Given the description of an element on the screen output the (x, y) to click on. 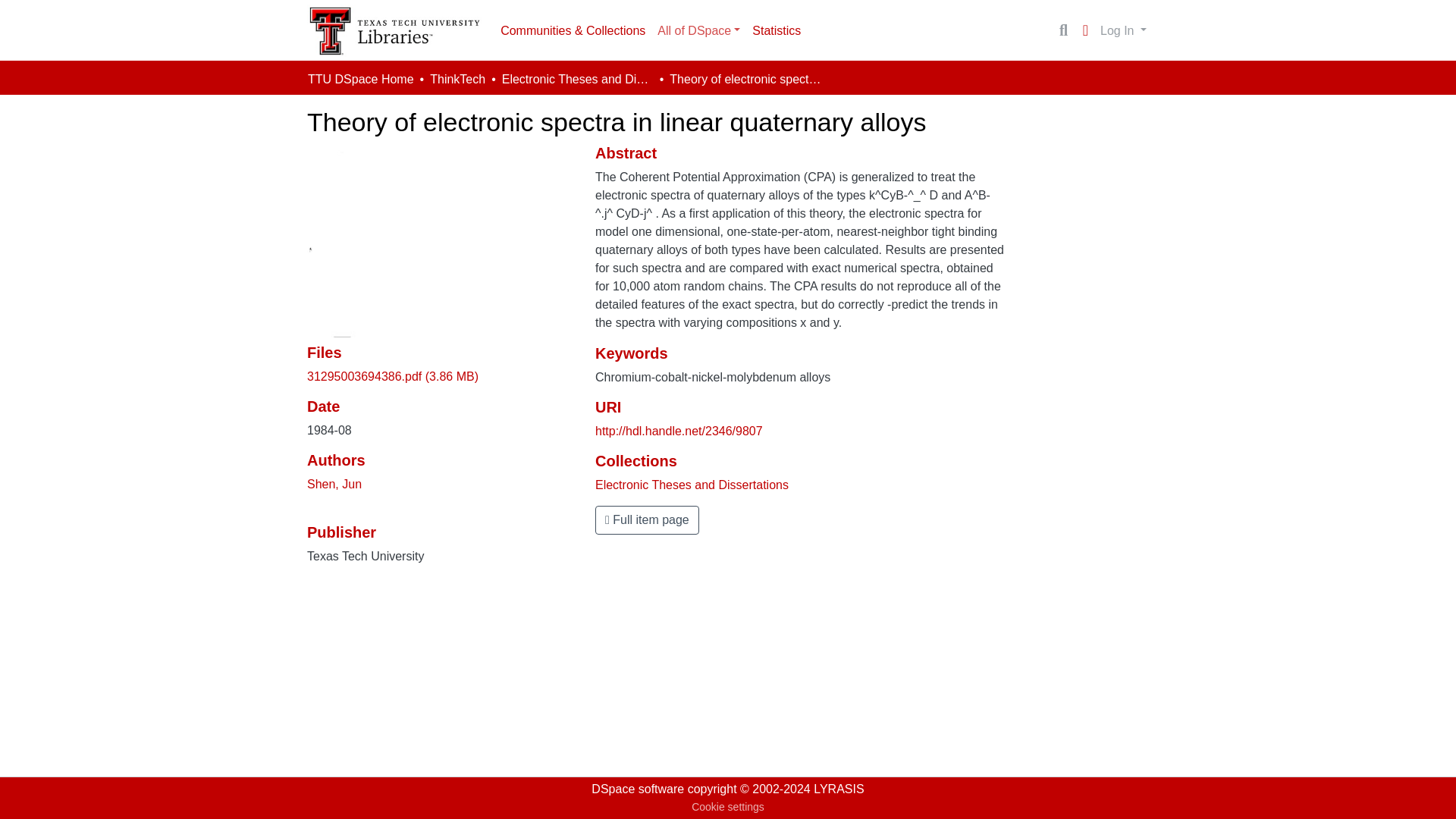
Statistics (775, 30)
TTU DSpace Home (360, 79)
Statistics (775, 30)
DSpace software (637, 788)
All of DSpace (697, 30)
Language switch (1084, 30)
Cookie settings (727, 806)
LYRASIS (838, 788)
Electronic Theses and Dissertations (577, 79)
Full item page (646, 520)
ThinkTech (456, 79)
Shen, Jun (334, 483)
Search (1063, 30)
Electronic Theses and Dissertations (692, 484)
Log In (1122, 30)
